Given the description of an element on the screen output the (x, y) to click on. 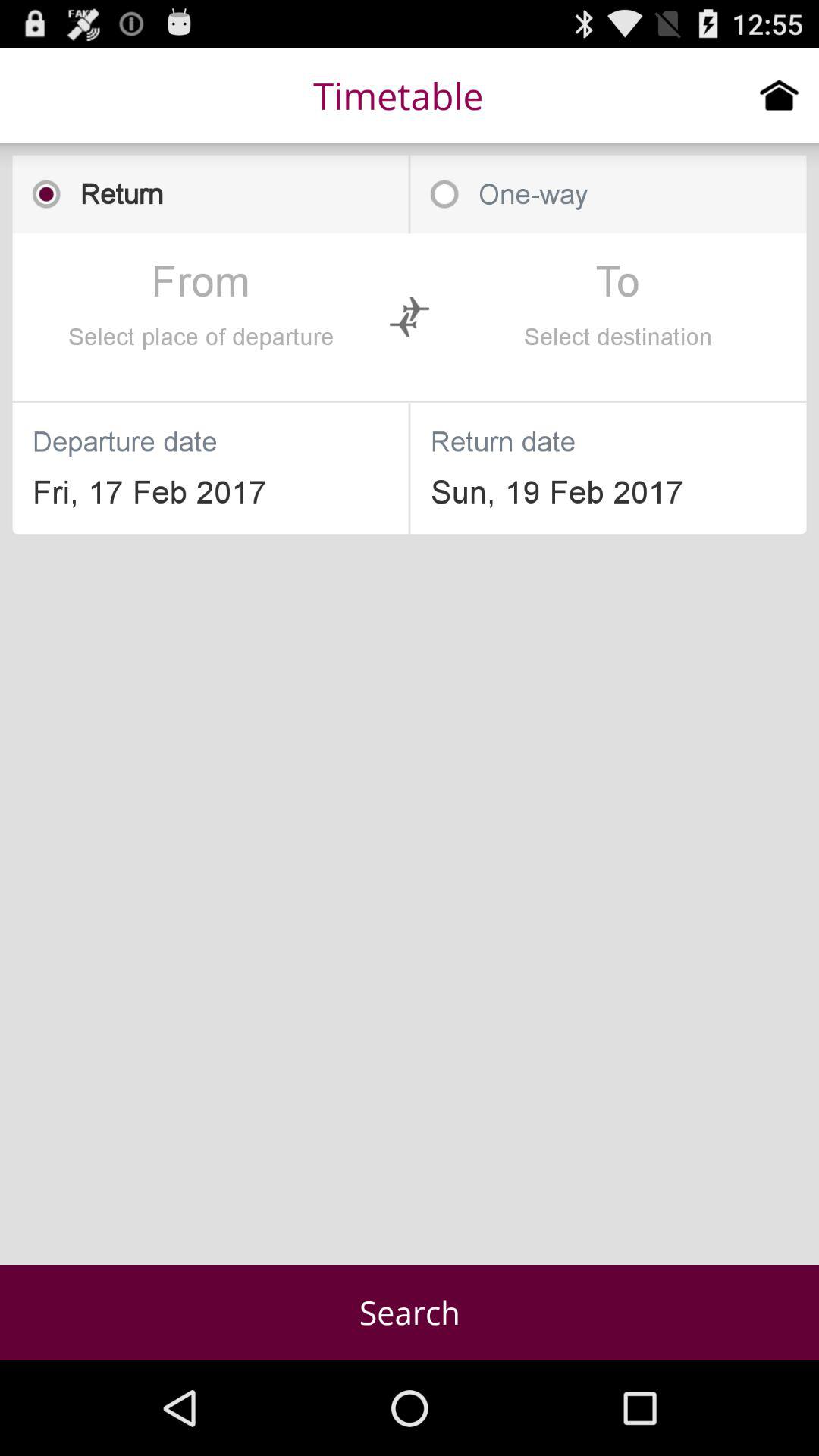
jump to search item (409, 1312)
